Given the description of an element on the screen output the (x, y) to click on. 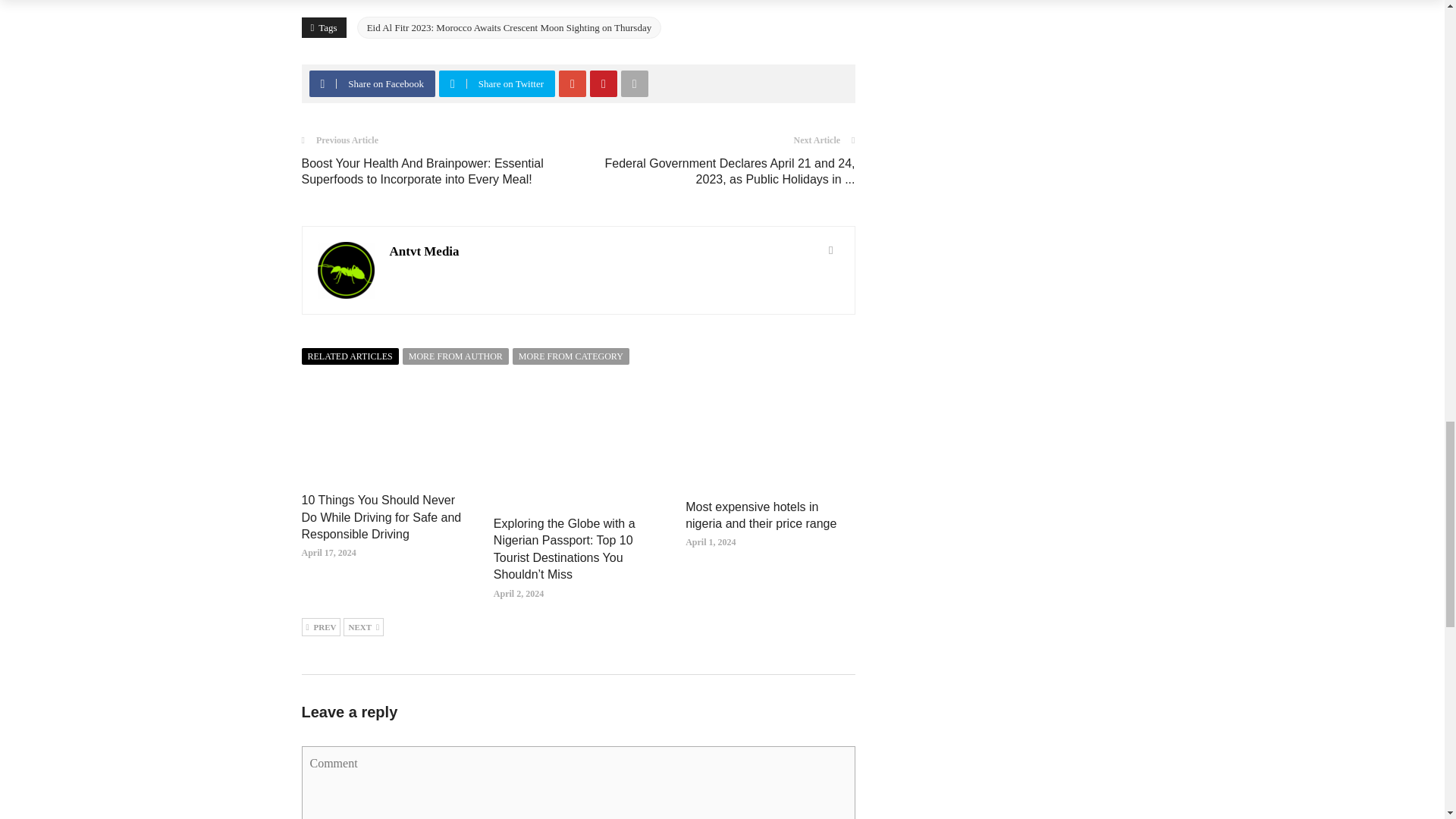
Previous (320, 627)
